Given the description of an element on the screen output the (x, y) to click on. 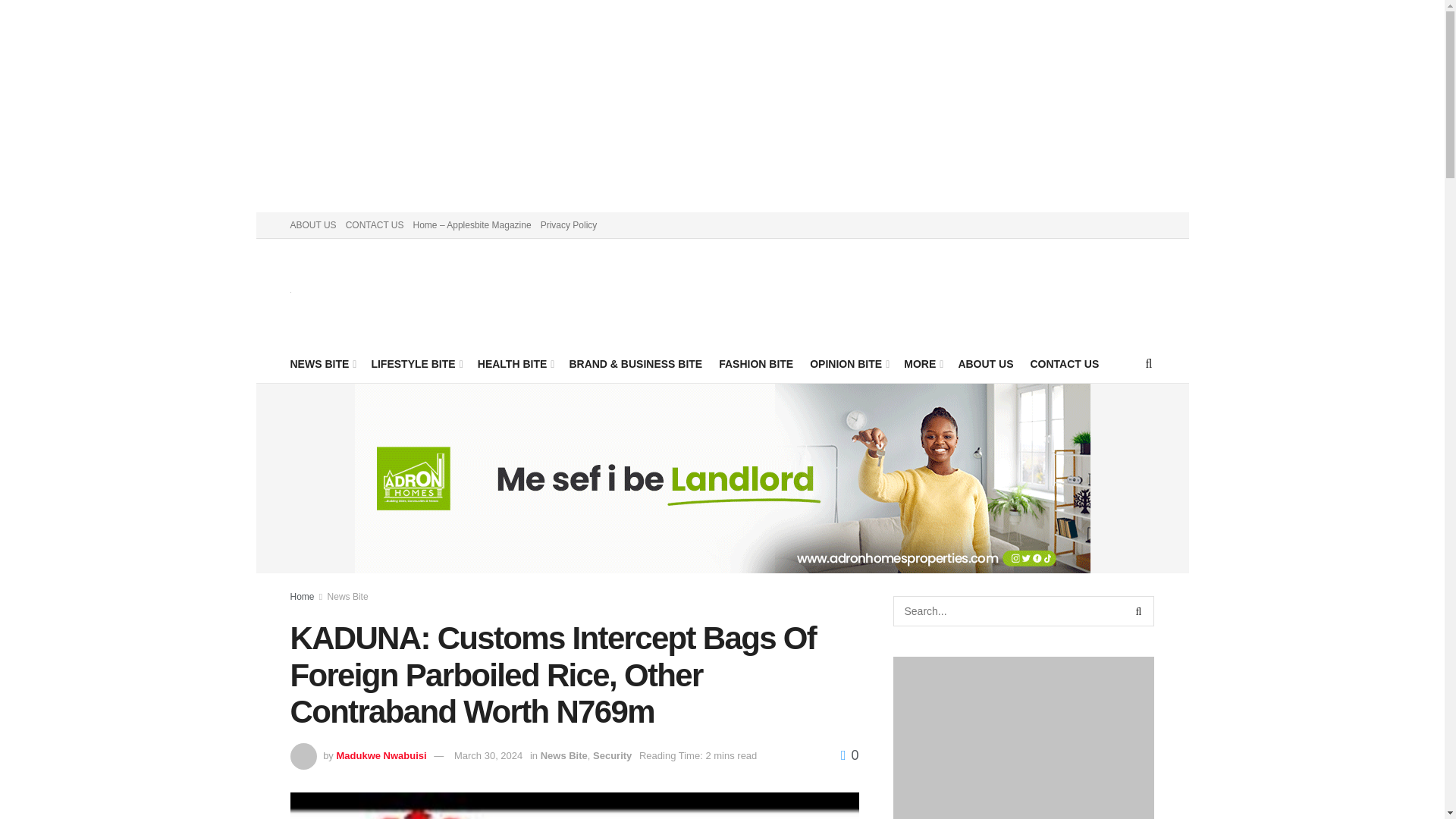
CONTACT US (375, 225)
ABOUT US (312, 225)
Privacy Policy (568, 225)
NEWS BITE (321, 363)
